Given the description of an element on the screen output the (x, y) to click on. 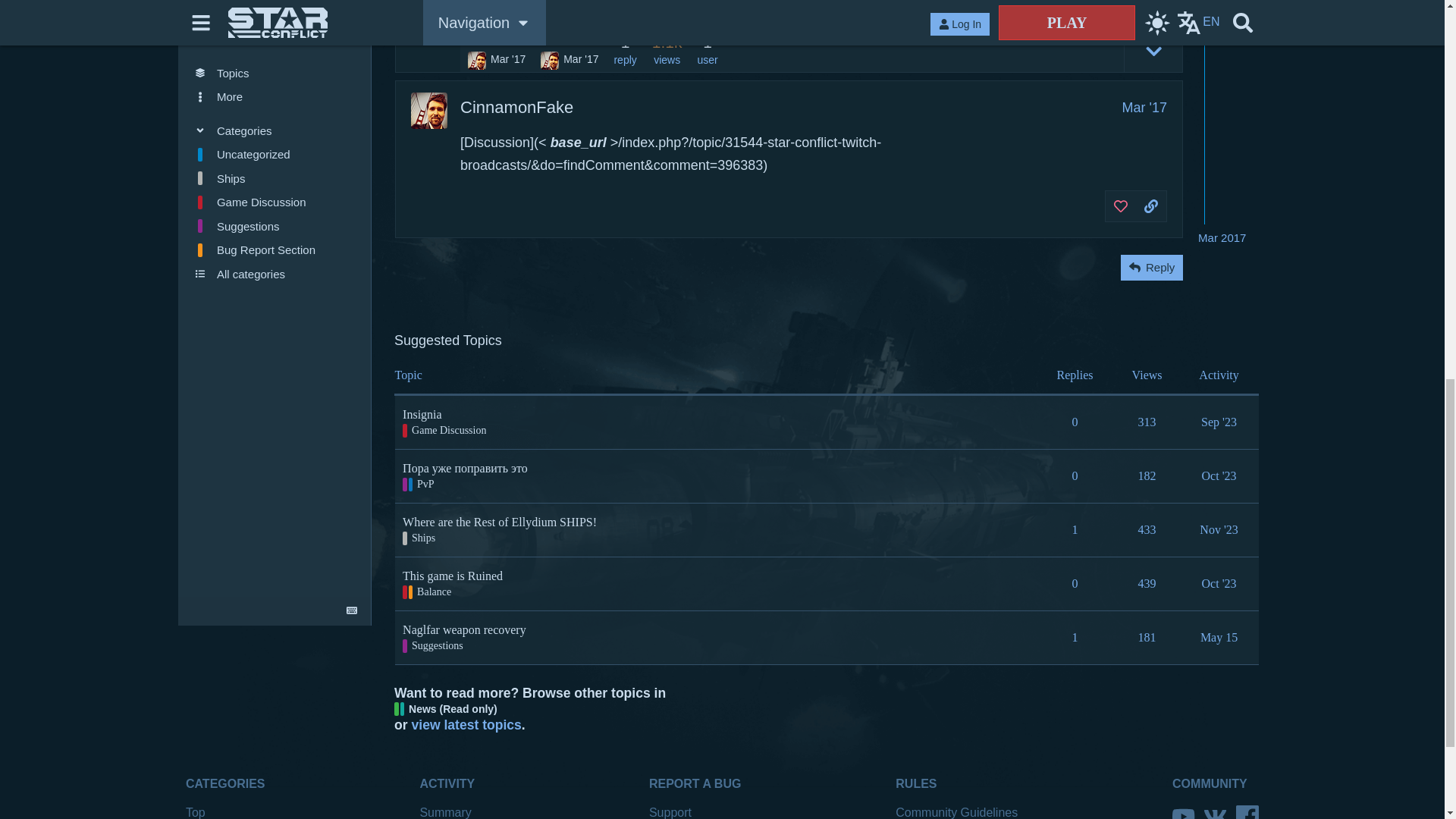
like this post (1120, 6)
last reply (569, 36)
CinnamonFake (516, 107)
Mar '17 (1144, 107)
